Given the description of an element on the screen output the (x, y) to click on. 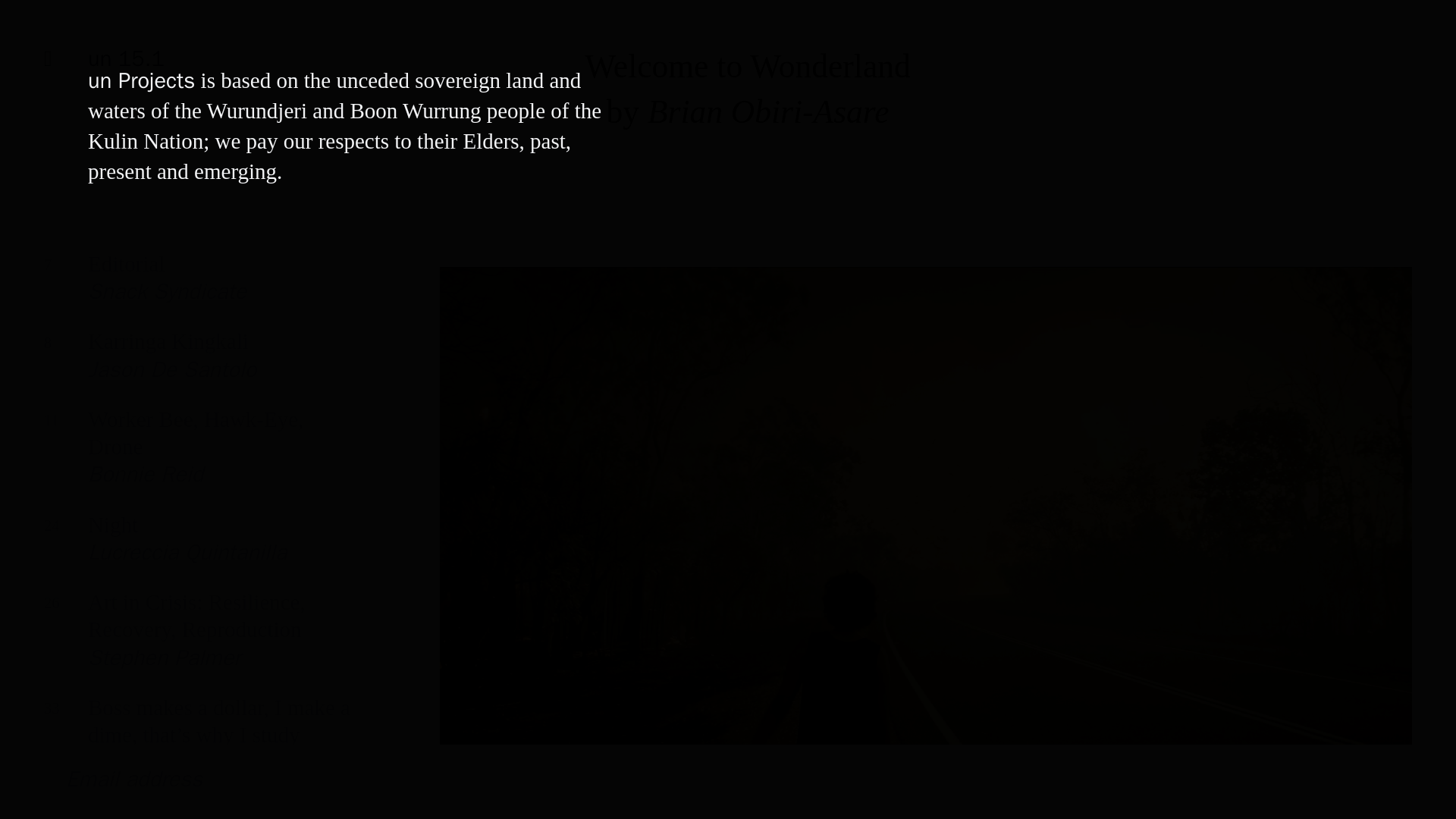
Brian Obiri-Asare (768, 111)
Posts by Brian Obiri-Asare (768, 111)
